Given the description of an element on the screen output the (x, y) to click on. 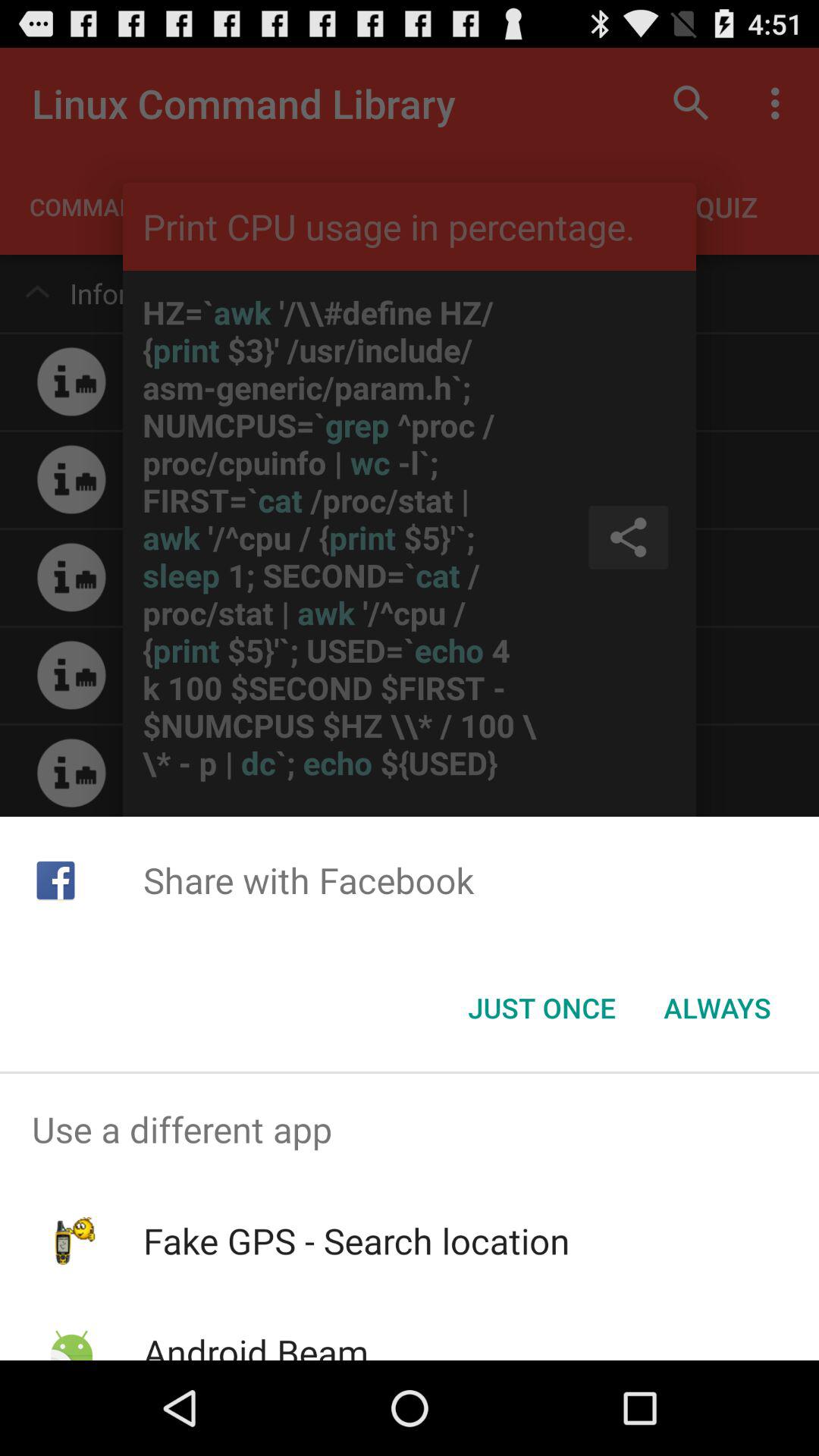
turn off button next to just once icon (717, 1007)
